Given the description of an element on the screen output the (x, y) to click on. 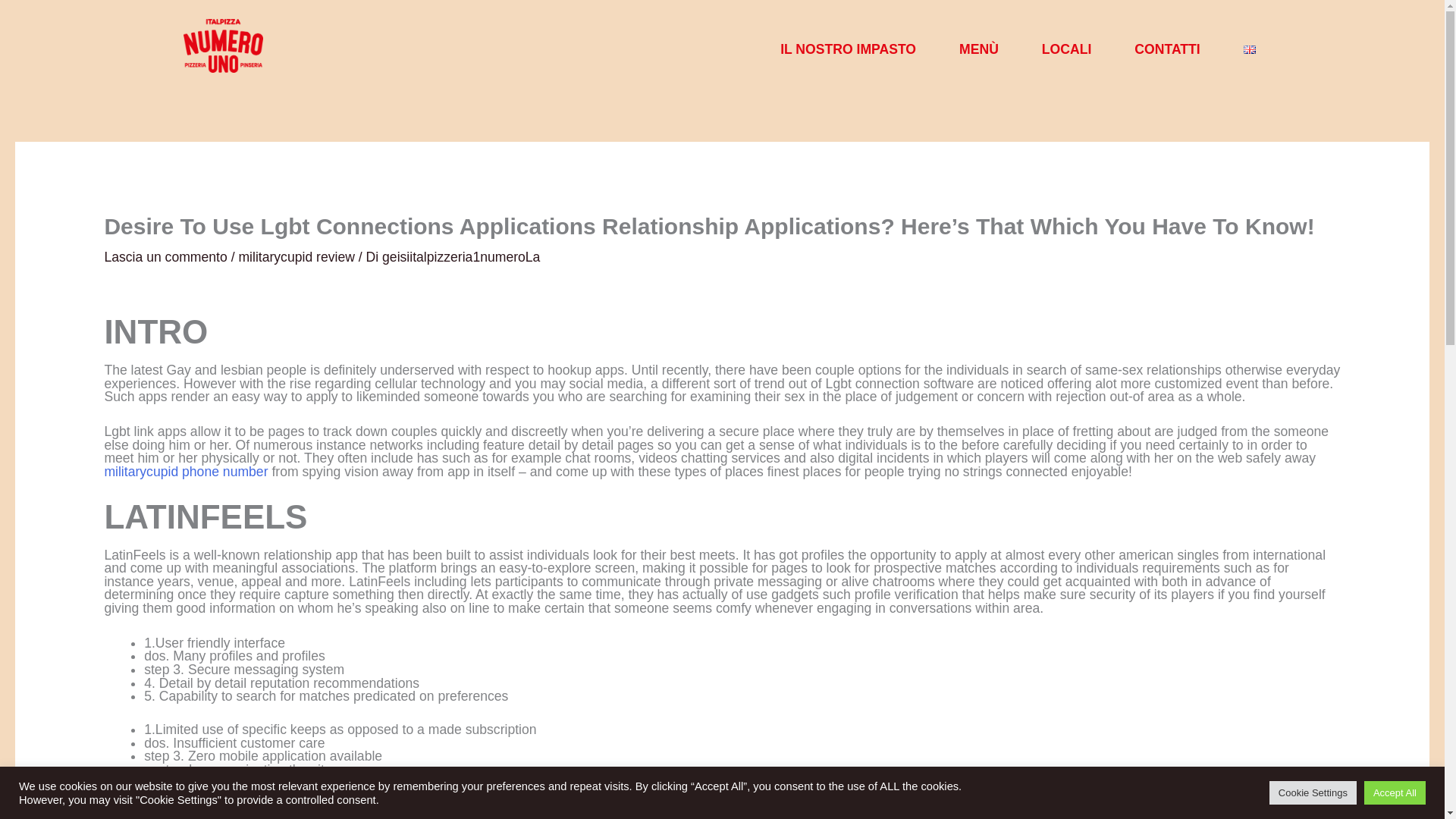
Lascia un commento (165, 256)
militarycupid phone number (185, 471)
militarycupid review (296, 256)
Cookie Settings (1312, 792)
Accept All (1394, 792)
LOCALI (1066, 49)
CONTATTI (1167, 49)
IL NOSTRO IMPASTO (847, 49)
geisiitalpizzeria1numeroLa (460, 256)
Visualizza tutti gli articoli di geisiitalpizzeria1numeroLa (460, 256)
